Given the description of an element on the screen output the (x, y) to click on. 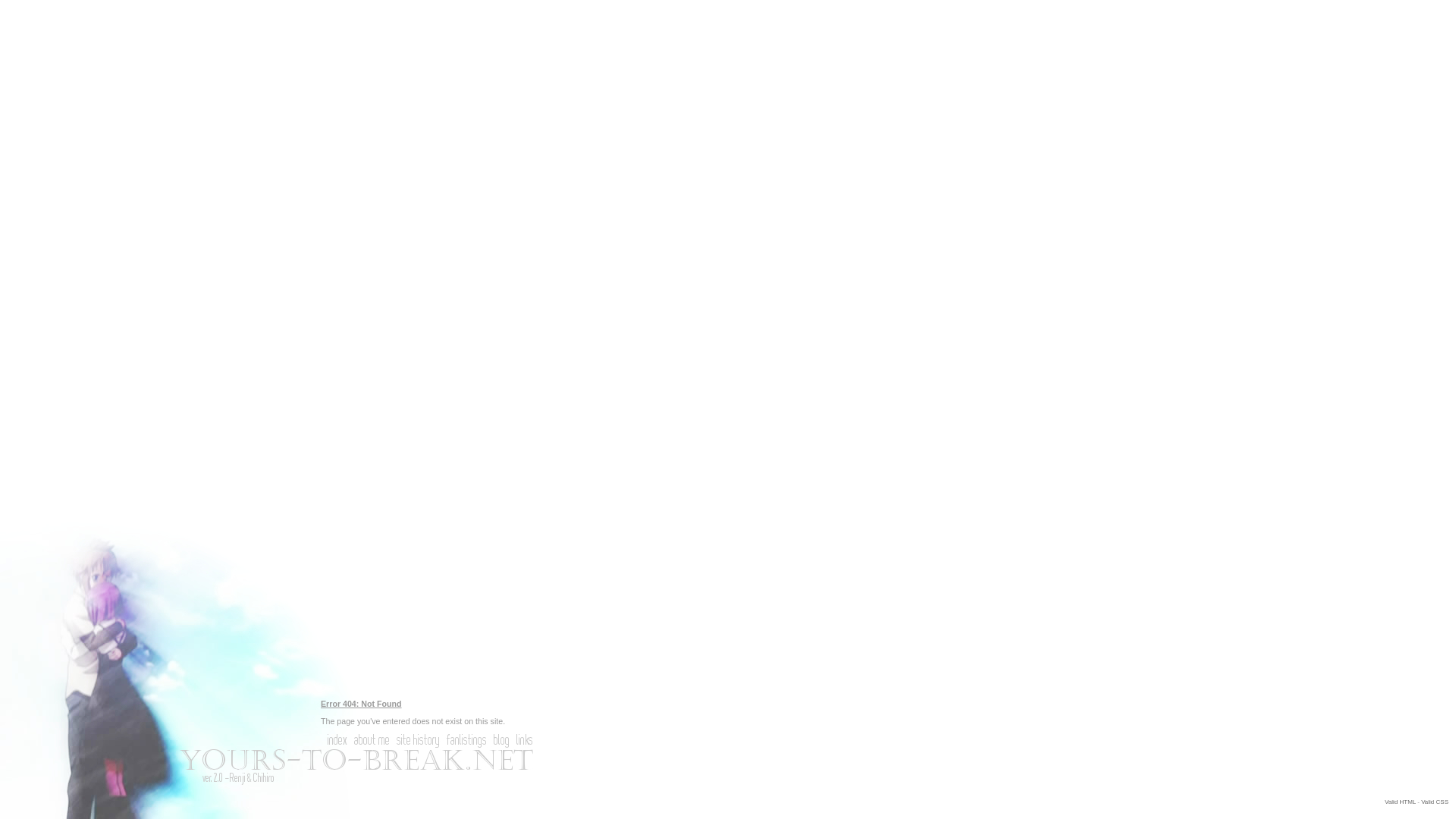
Valid CSS Element type: text (1434, 801)
Valid HTML Element type: text (1399, 801)
